Given the description of an element on the screen output the (x, y) to click on. 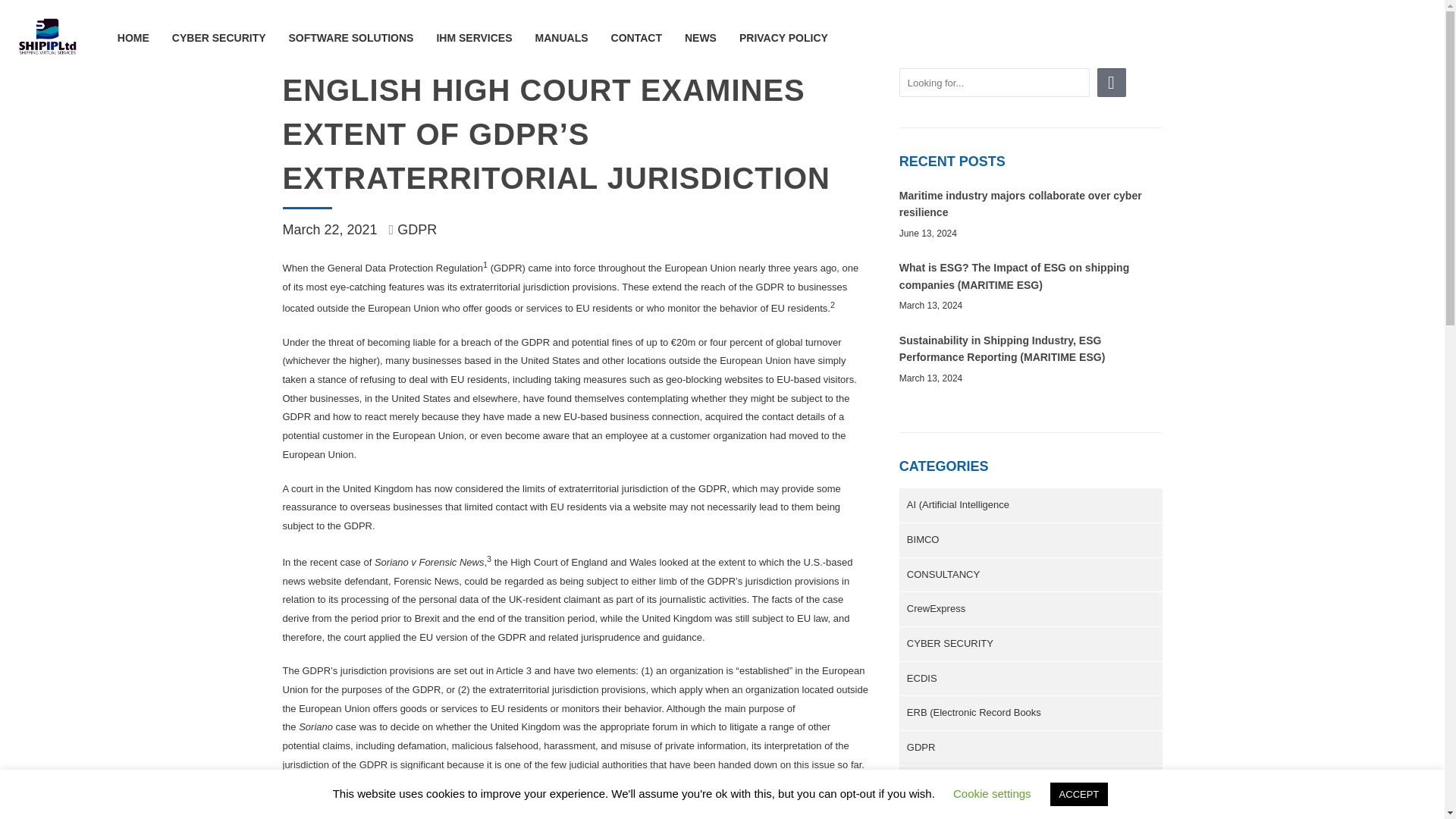
GDPR (416, 229)
CYBER SECURITY (218, 37)
Maritime industry majors collaborate over cyber resilience (1020, 203)
PRIVACY POLICY (783, 37)
CONSULTANCY (1030, 574)
BIMCO (1030, 540)
SOFTWARE SOLUTIONS (350, 37)
CONTACT (636, 37)
Soriano v Forensic News (429, 562)
IHM SERVICES (473, 37)
